Given the description of an element on the screen output the (x, y) to click on. 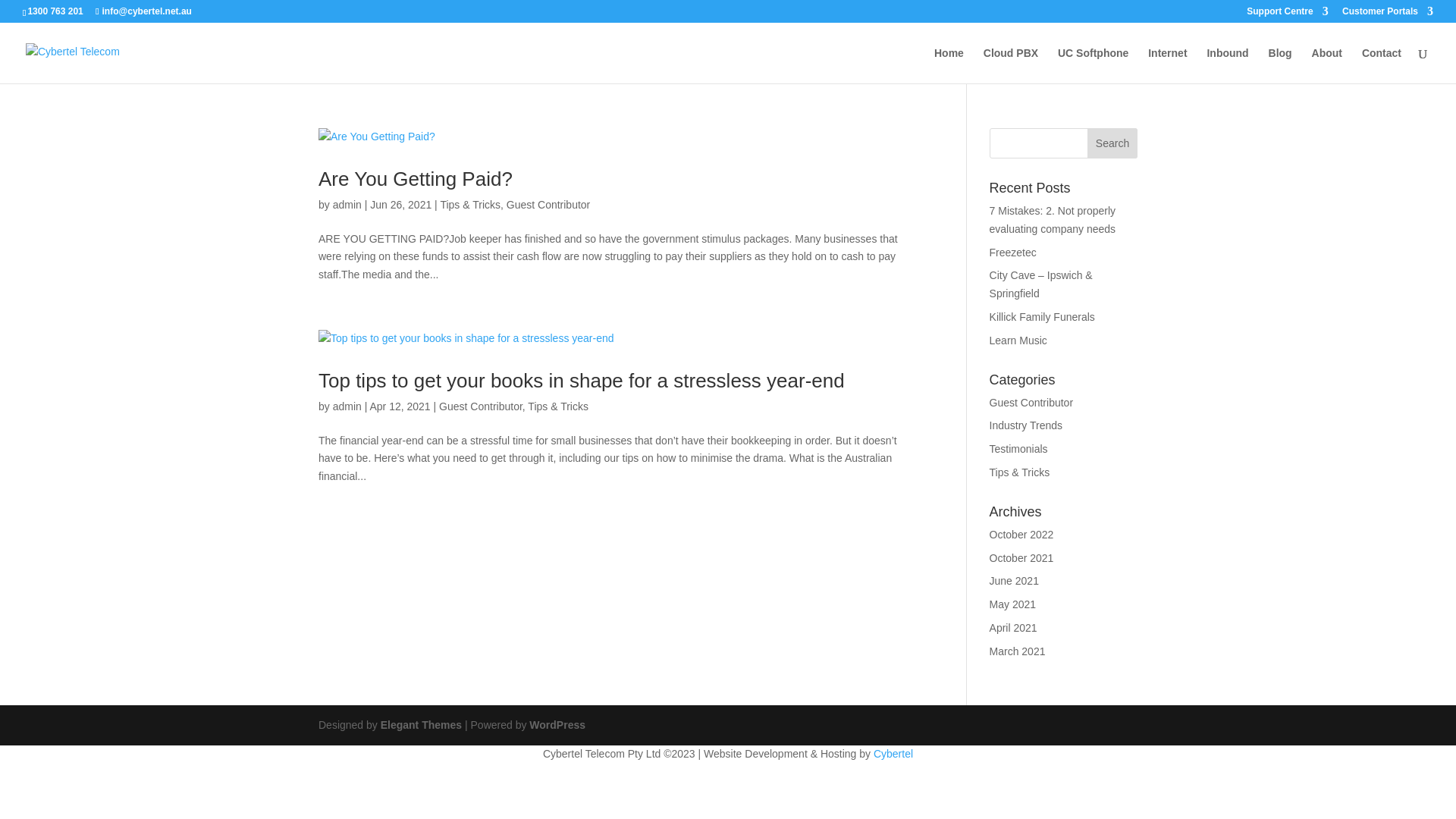
Contact Element type: text (1381, 65)
Cloud PBX Element type: text (1010, 65)
Testimonials Element type: text (1018, 448)
WordPress Element type: text (557, 724)
Internet Element type: text (1167, 65)
Home Element type: text (948, 65)
Guest Contributor Element type: text (1031, 402)
admin Element type: text (346, 406)
Customer Portals Element type: text (1387, 14)
Search Element type: text (1112, 143)
admin Element type: text (346, 204)
Tips & Tricks Element type: text (557, 406)
About Element type: text (1326, 65)
October 2022 Element type: text (1021, 534)
1300 763 201 Element type: text (54, 11)
Killick Family Funerals Element type: text (1042, 316)
May 2021 Element type: text (1012, 604)
Cybertel Element type: text (893, 753)
7 Mistakes: 2. Not properly evaluating company needs Element type: text (1052, 219)
info@cybertel.net.au Element type: text (143, 11)
Learn Music Element type: text (1018, 340)
Tips & Tricks Element type: text (1019, 472)
Blog Element type: text (1280, 65)
Elegant Themes Element type: text (420, 724)
UC Softphone Element type: text (1092, 65)
Are You Getting Paid? Element type: text (415, 178)
Guest Contributor Element type: text (480, 406)
Tips & Tricks Element type: text (469, 204)
Support Centre Element type: text (1286, 14)
October 2021 Element type: text (1021, 558)
June 2021 Element type: text (1013, 580)
Inbound Element type: text (1227, 65)
Industry Trends Element type: text (1026, 425)
Freezetec Element type: text (1012, 252)
March 2021 Element type: text (1017, 651)
April 2021 Element type: text (1013, 627)
Guest Contributor Element type: text (548, 204)
